Given the description of an element on the screen output the (x, y) to click on. 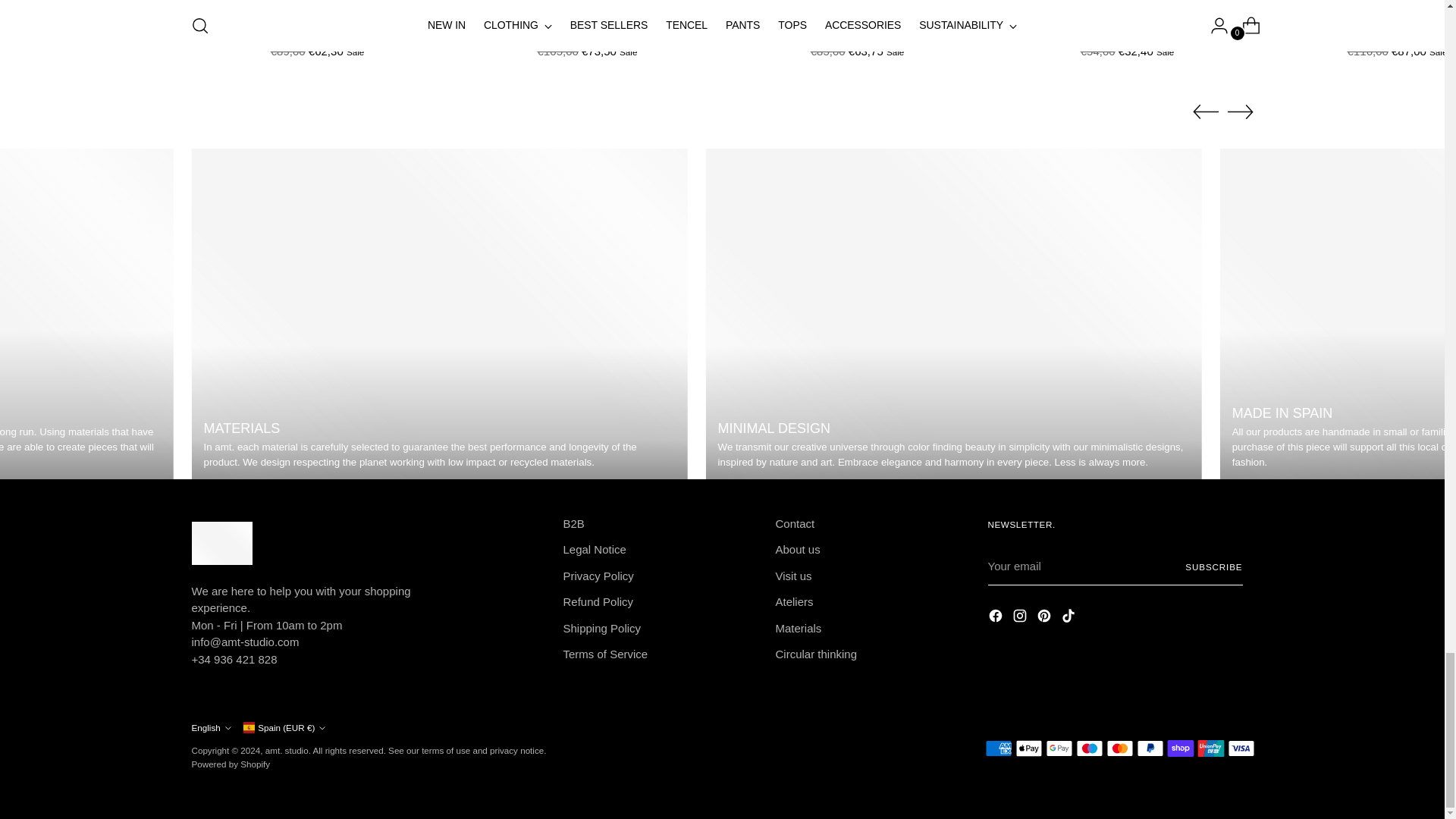
amt. studio on Pinterest (1044, 618)
amt. studio on Facebook (996, 618)
